Given the description of an element on the screen output the (x, y) to click on. 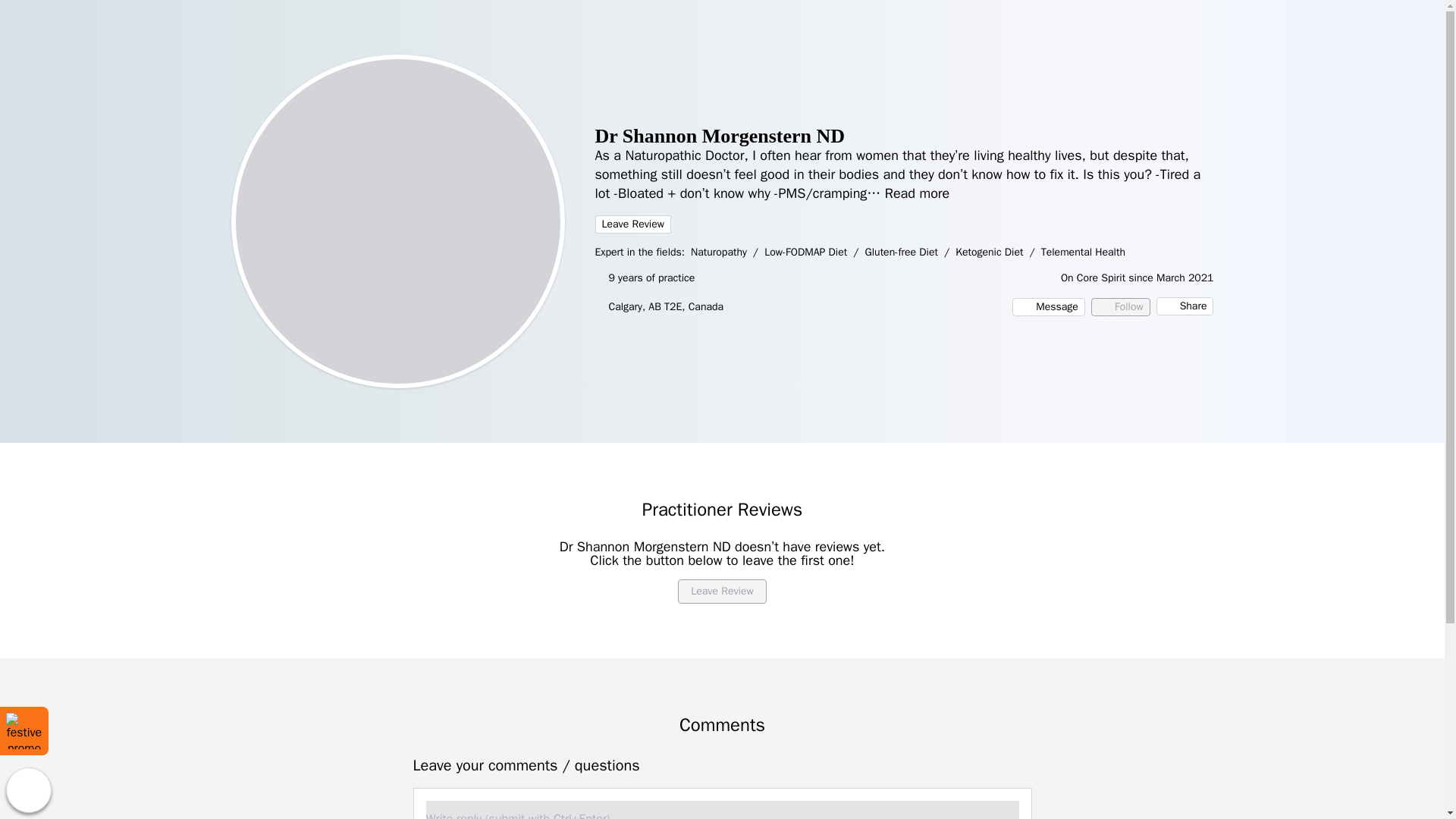
Read more (917, 193)
Leave Review (631, 224)
Leave Review (721, 591)
Message (1047, 307)
Back to top (27, 790)
Follow (1120, 307)
